Given the description of an element on the screen output the (x, y) to click on. 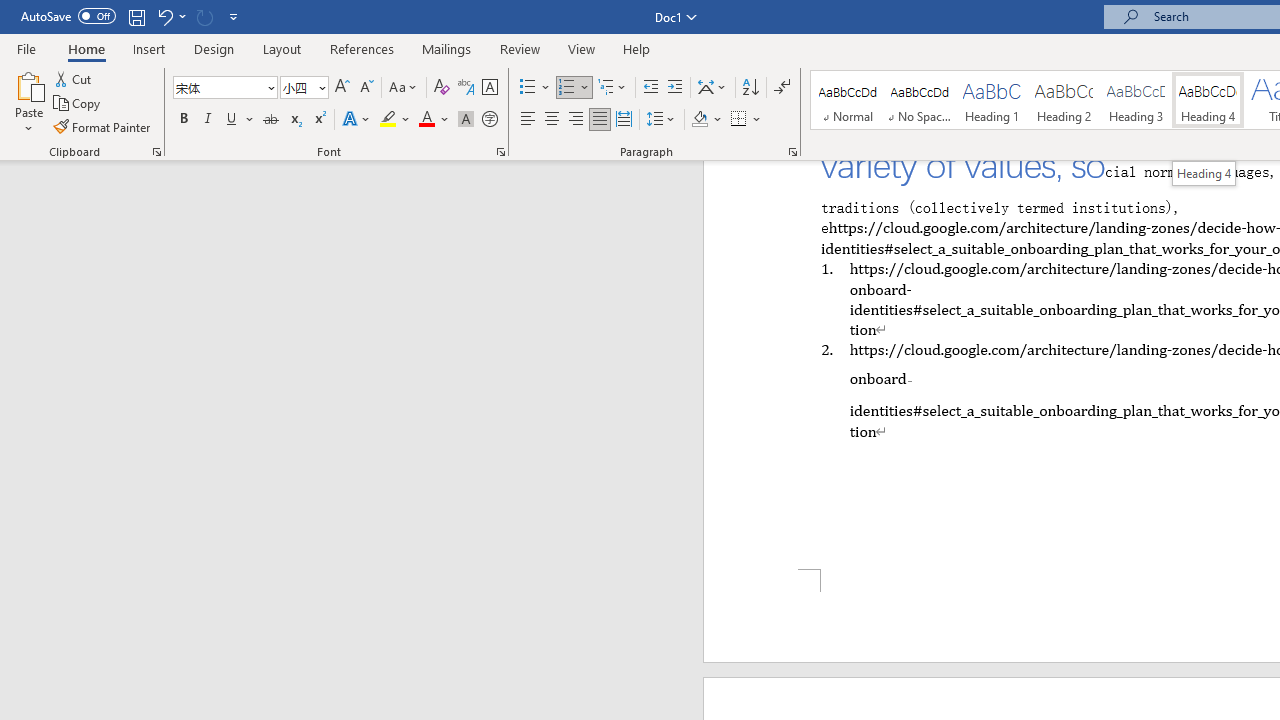
Heading 1 (991, 100)
Home (86, 48)
Heading 3 (1135, 100)
Layout (282, 48)
Font Color (434, 119)
Underline (239, 119)
Align Right (575, 119)
Center (552, 119)
Design (214, 48)
Italic (207, 119)
Quick Access Toolbar (131, 16)
Font Size (304, 87)
Font Size (297, 87)
Font (218, 87)
Borders (739, 119)
